Given the description of an element on the screen output the (x, y) to click on. 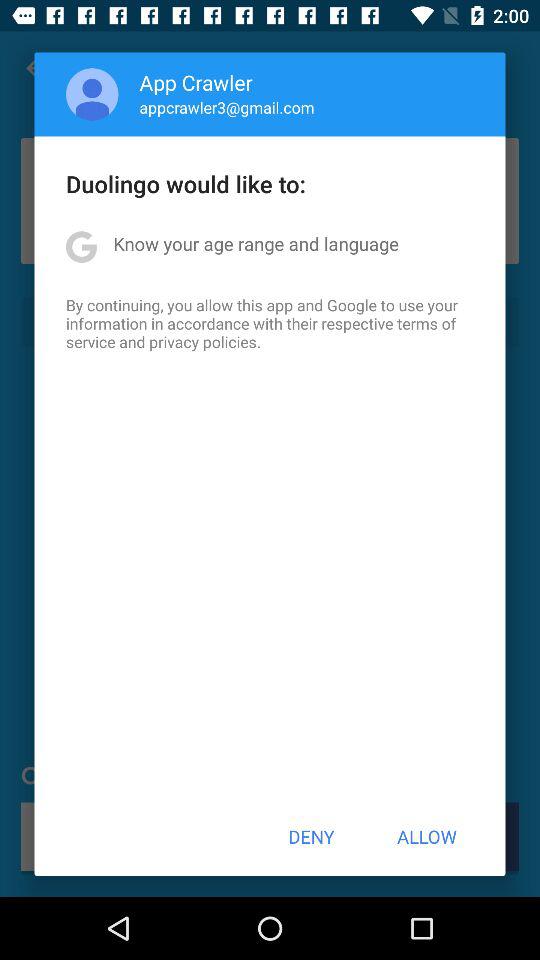
turn on appcrawler3@gmail.com item (226, 107)
